Given the description of an element on the screen output the (x, y) to click on. 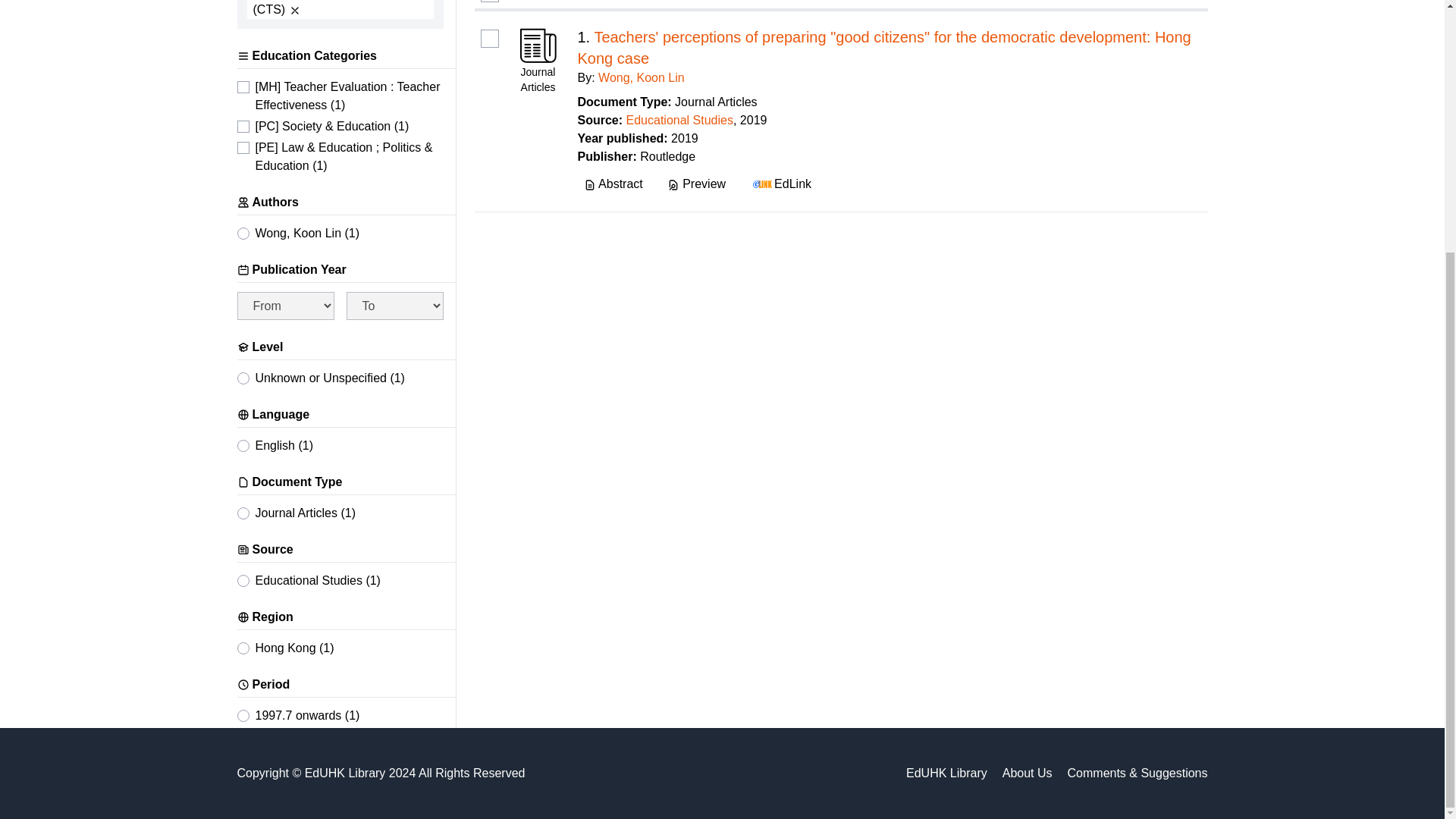
Preview (696, 183)
EdUHK Library (946, 773)
Abstract (613, 183)
Wong, Koon Lin (641, 77)
Export (1176, 0)
Email (1115, 0)
Educational Studies (679, 119)
EdLink (780, 183)
